Given the description of an element on the screen output the (x, y) to click on. 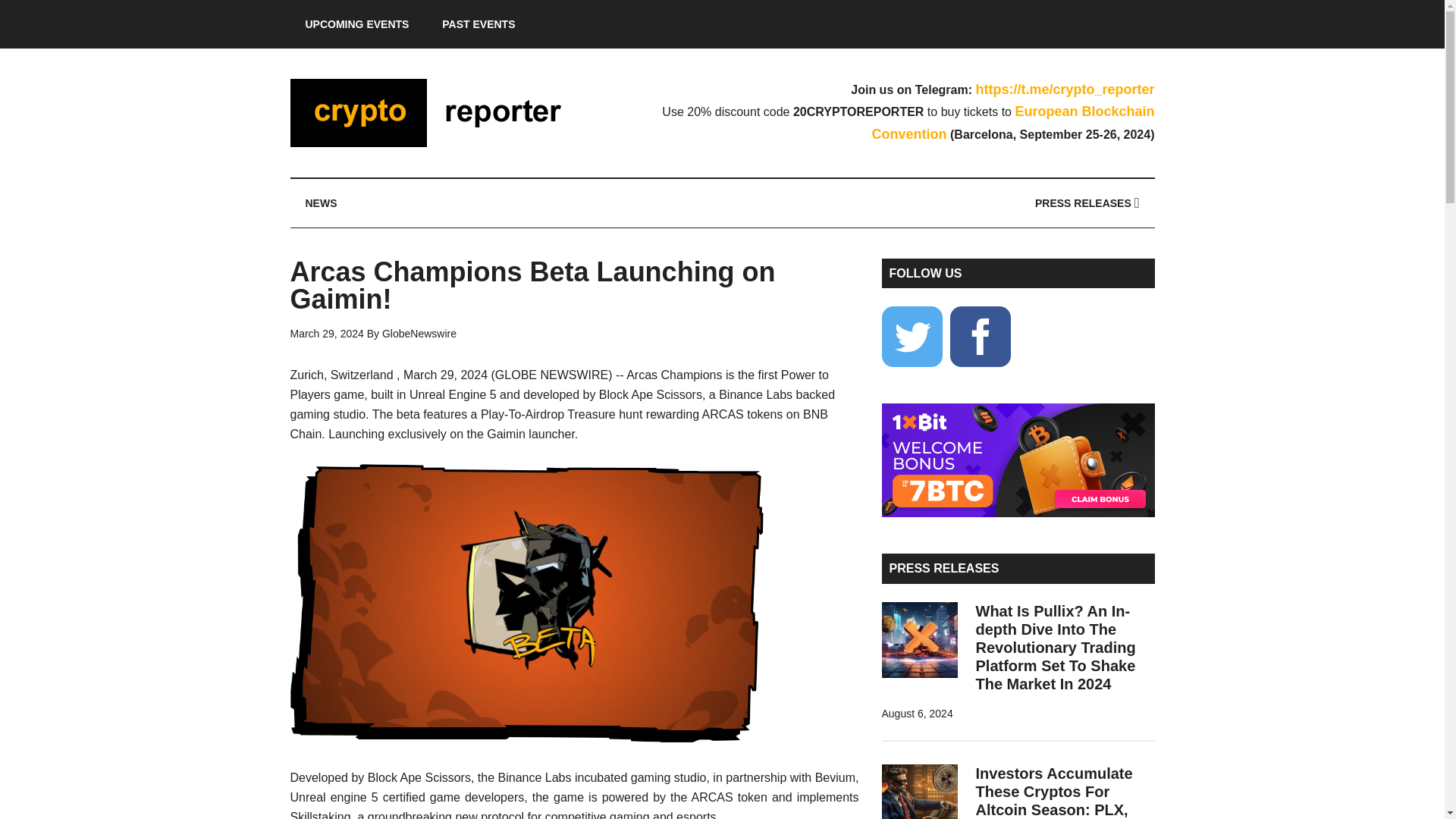
UPCOMING EVENTS (356, 24)
Crypto Reporter (433, 112)
European Blockchain Convention (1013, 122)
NEWS (320, 203)
PAST EVENTS (477, 24)
